Given the description of an element on the screen output the (x, y) to click on. 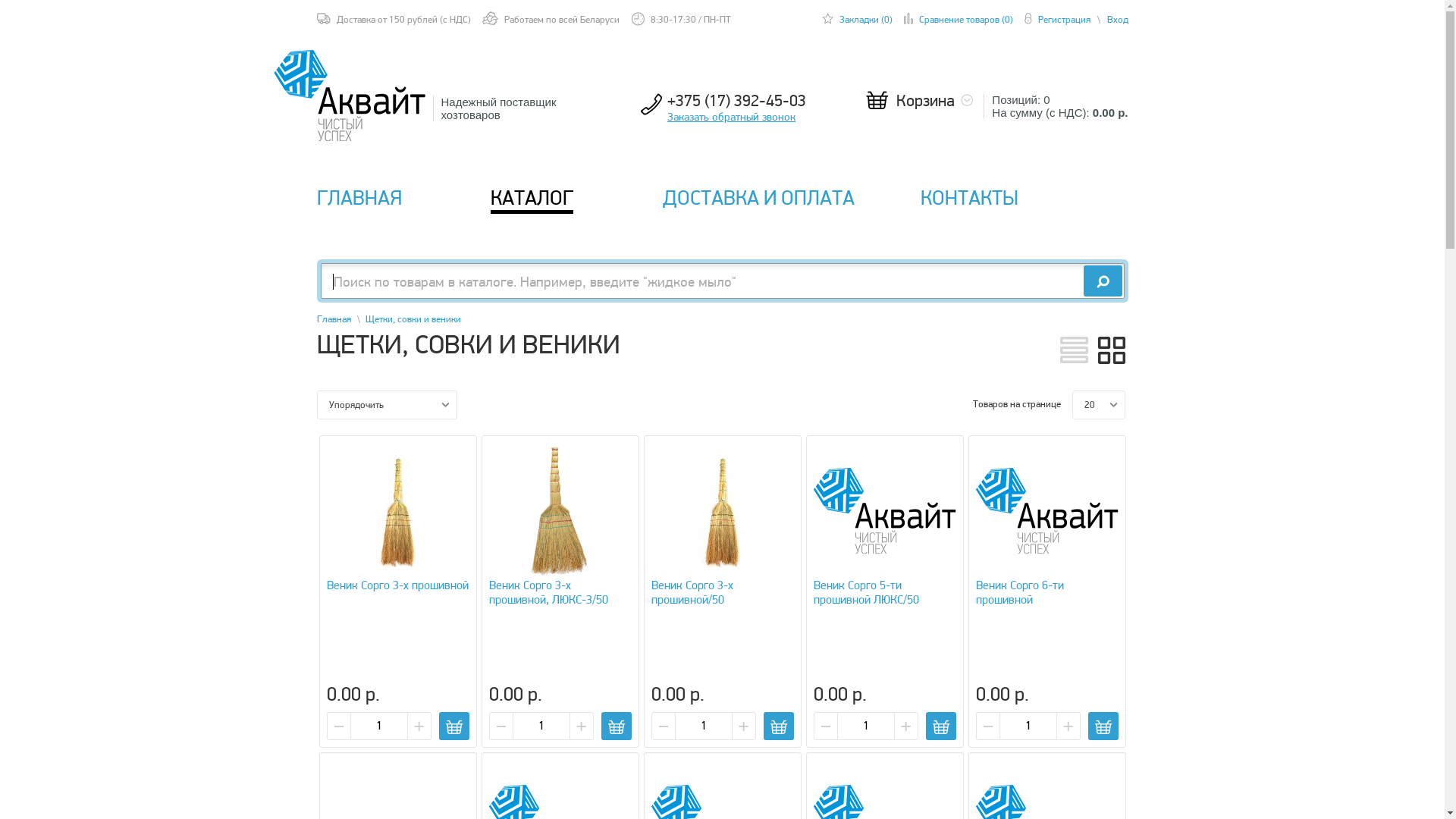
20 Element type: text (1098, 404)
